Given the description of an element on the screen output the (x, y) to click on. 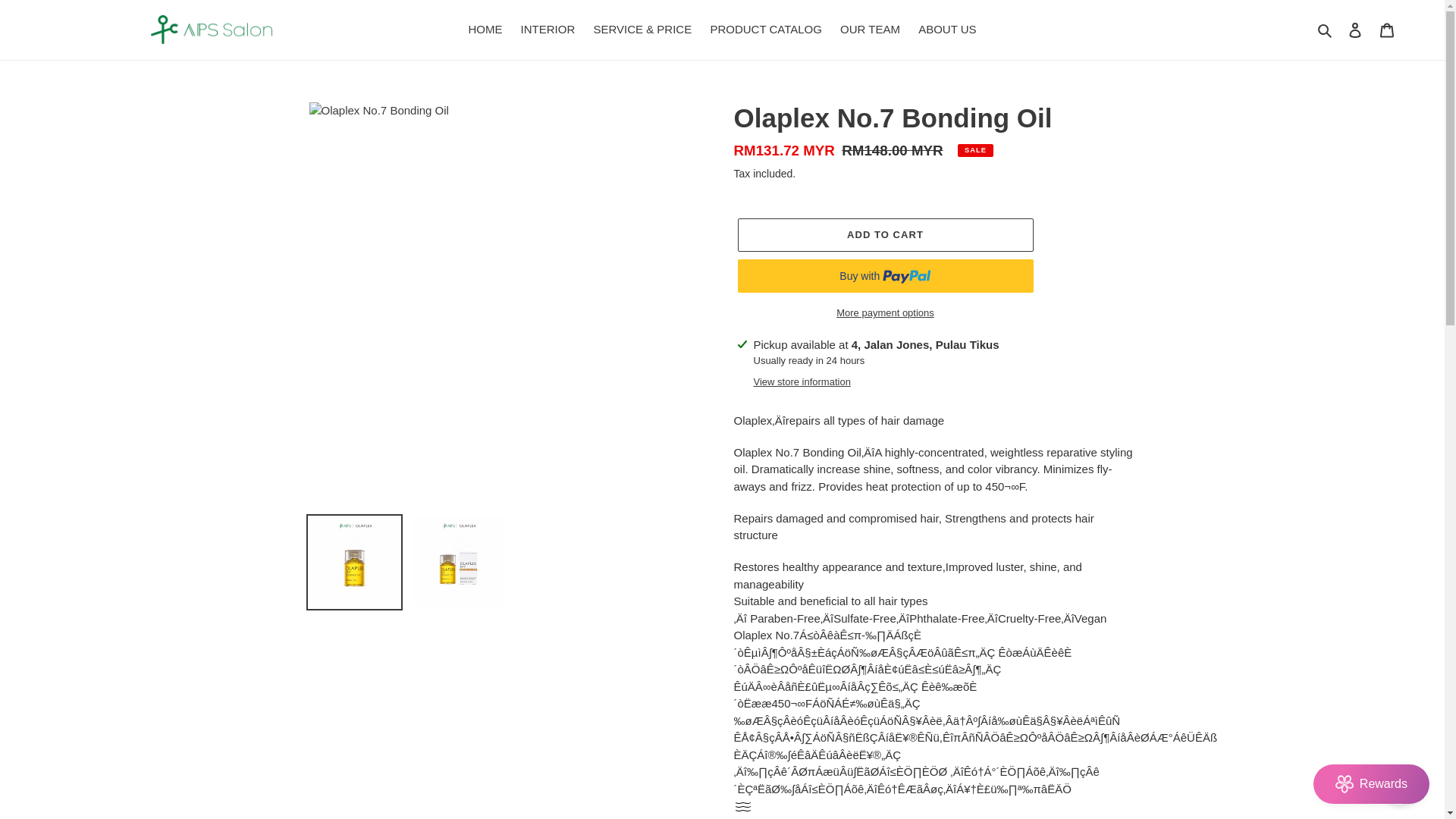
More payment options (884, 312)
View store information (802, 381)
OUR TEAM (869, 29)
INTERIOR (548, 29)
Cart (1387, 29)
HOME (484, 29)
ABOUT US (947, 29)
ADD TO CART (884, 234)
PRODUCT CATALOG (765, 29)
Search (1326, 29)
Log in (1355, 29)
